Given the description of an element on the screen output the (x, y) to click on. 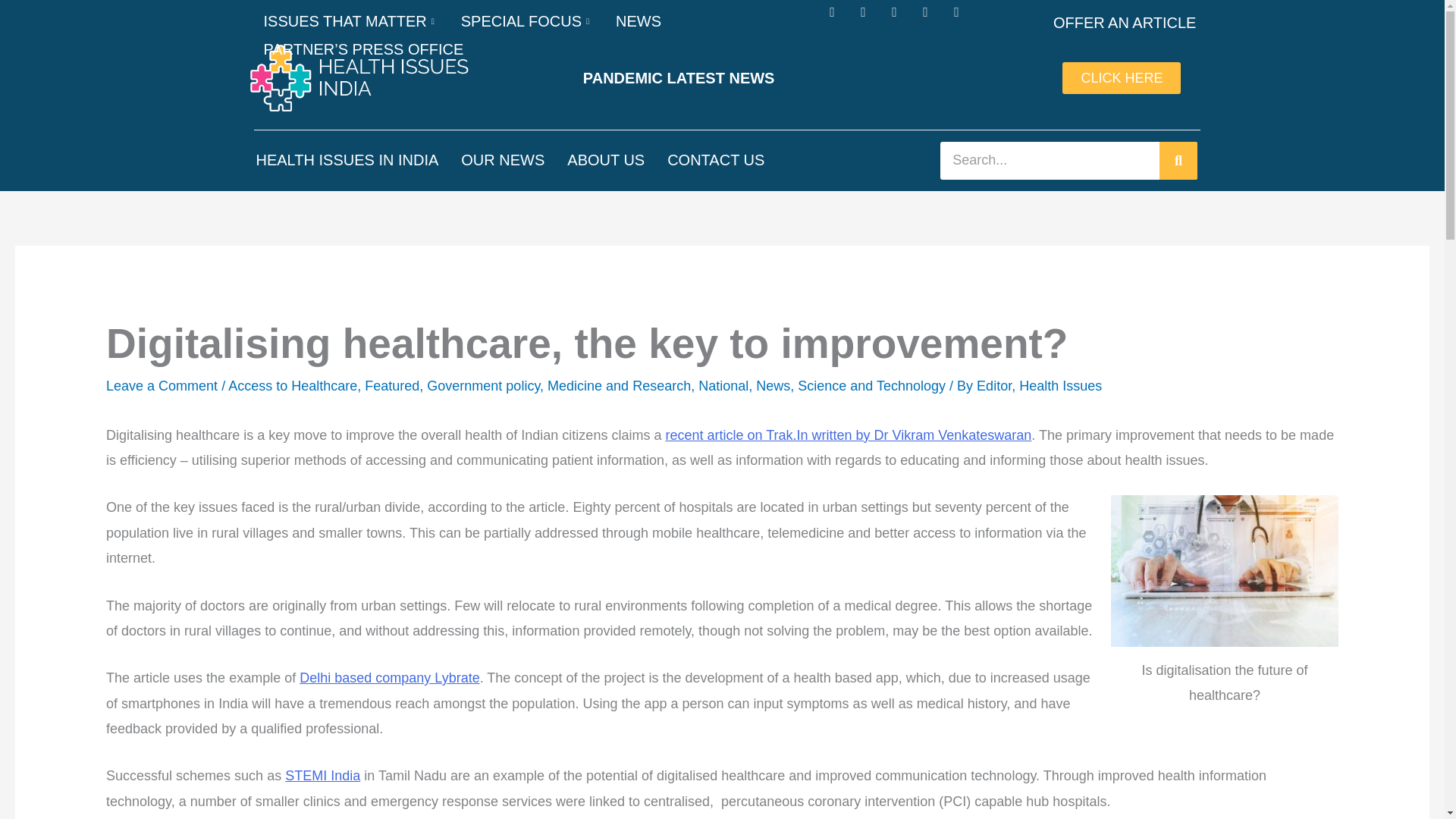
ISSUES THAT MATTER (349, 21)
Twitter (870, 18)
NEWS (638, 21)
Instagram (900, 18)
Facebook (838, 18)
SPECIAL FOCUS (526, 21)
Youtube (962, 18)
View all posts by Editor, Health Issues (1039, 385)
Linkedin (932, 18)
